Given the description of an element on the screen output the (x, y) to click on. 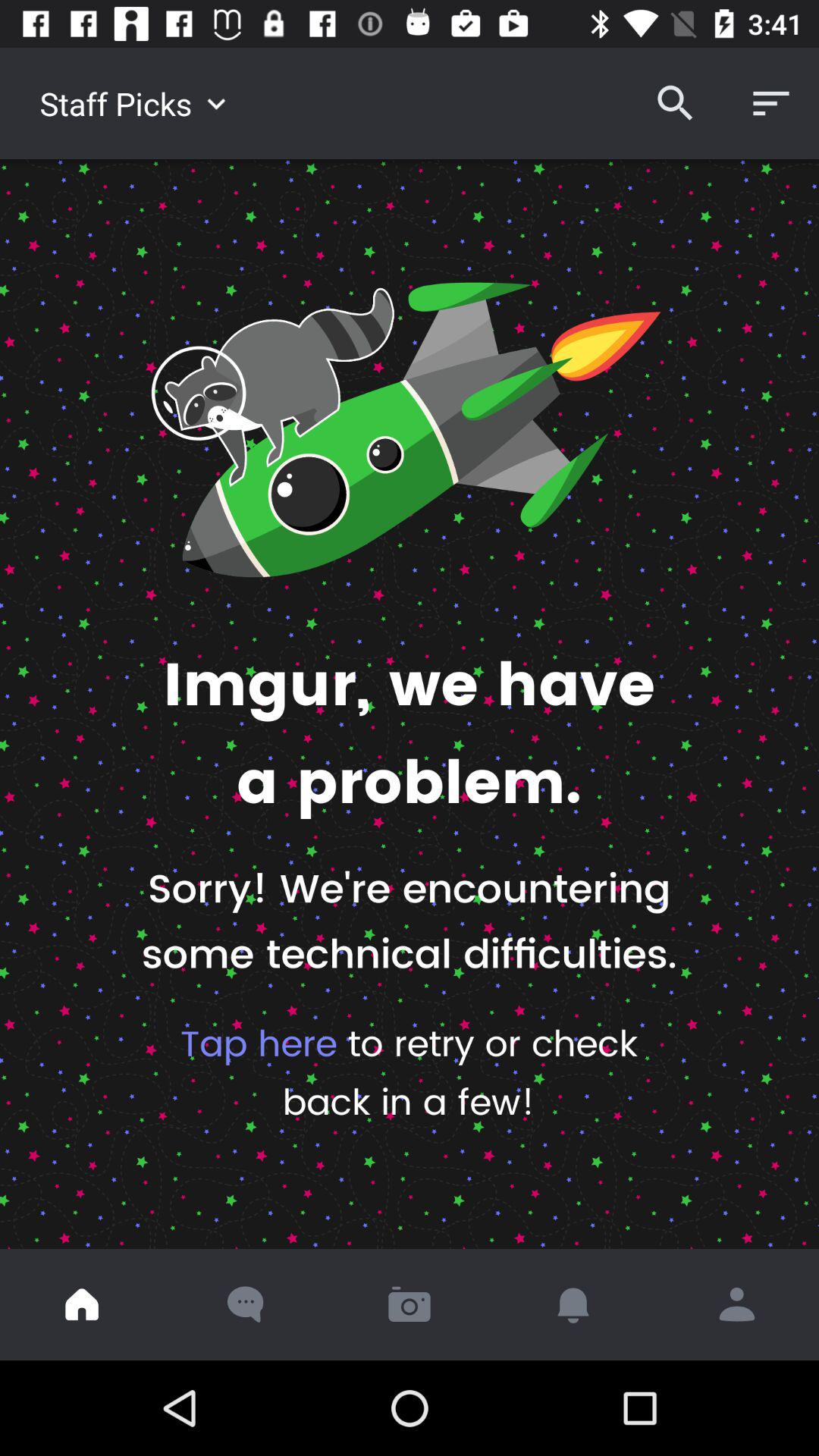
its button that goes into your profile page (737, 1304)
